Given the description of an element on the screen output the (x, y) to click on. 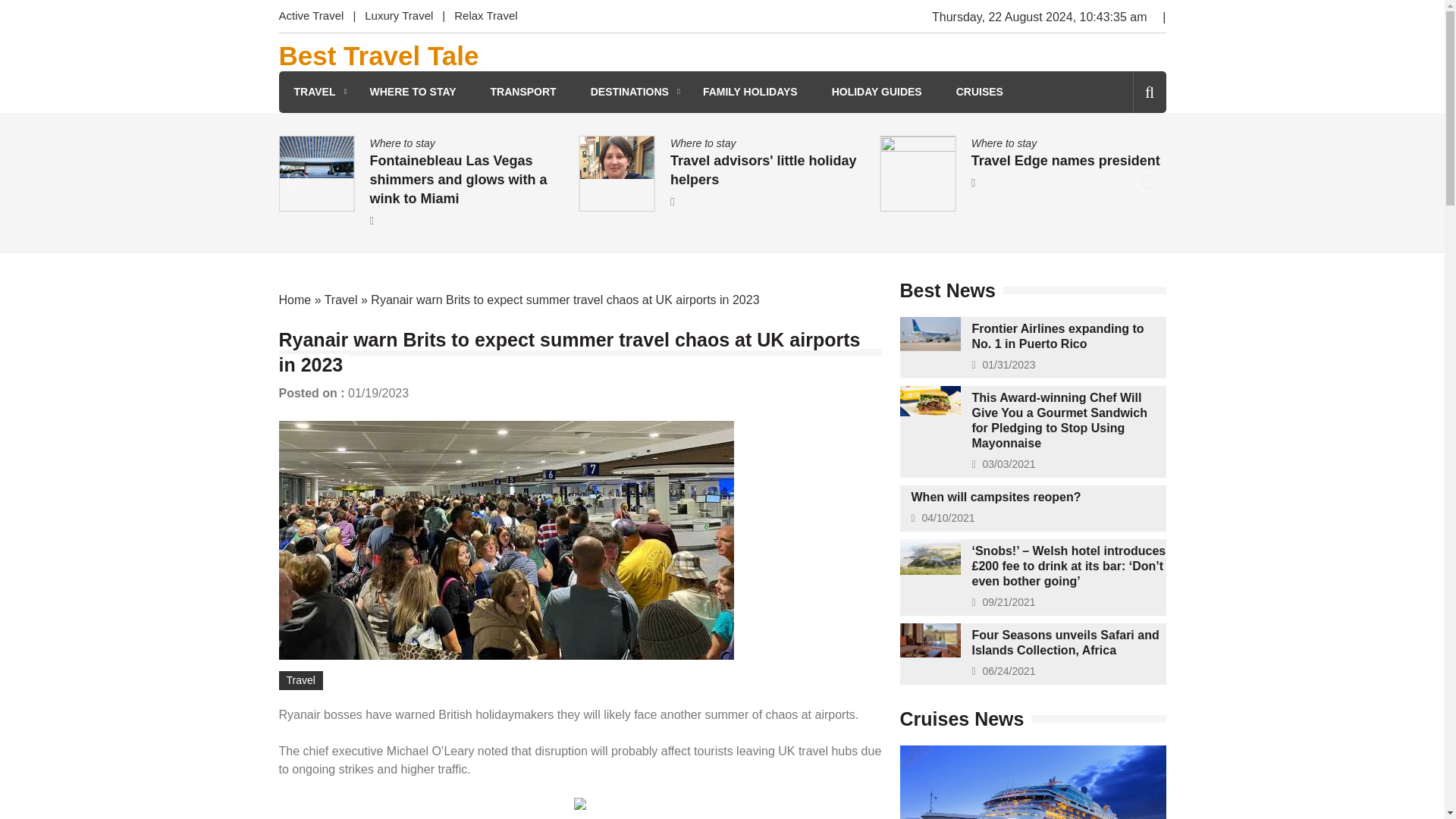
CRUISES (979, 92)
TRANSPORT (523, 92)
DESTINATIONS (629, 92)
Best Travel Tale (379, 55)
Luxury Travel (398, 16)
Search (1123, 156)
FAMILY HOLIDAYS (750, 92)
Relax Travel (485, 16)
HOLIDAY GUIDES (876, 92)
TRAVEL (315, 92)
